Given the description of an element on the screen output the (x, y) to click on. 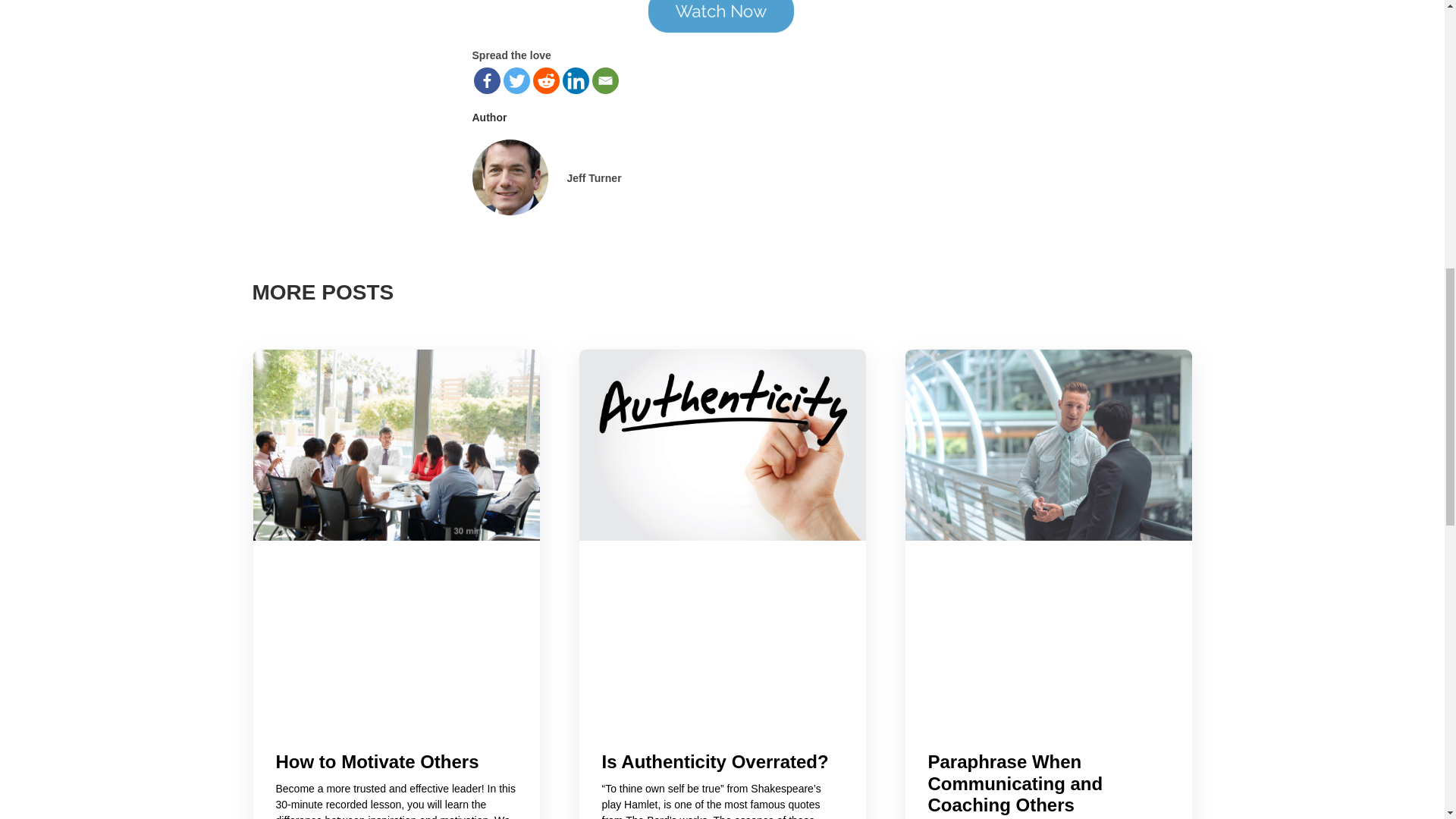
Email (604, 80)
Linkedin (575, 80)
Twitter (516, 80)
Reddit (545, 80)
Facebook (486, 80)
